Given the description of an element on the screen output the (x, y) to click on. 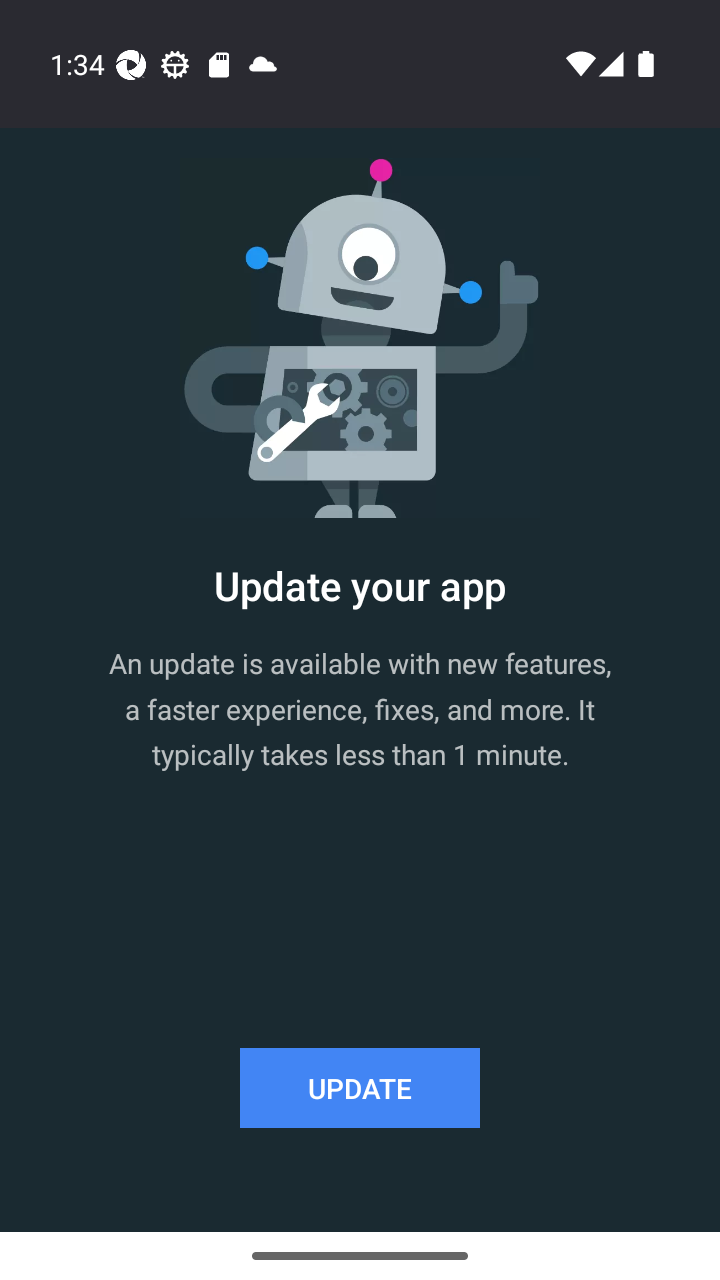
UPDATE (359, 1087)
